Given the description of an element on the screen output the (x, y) to click on. 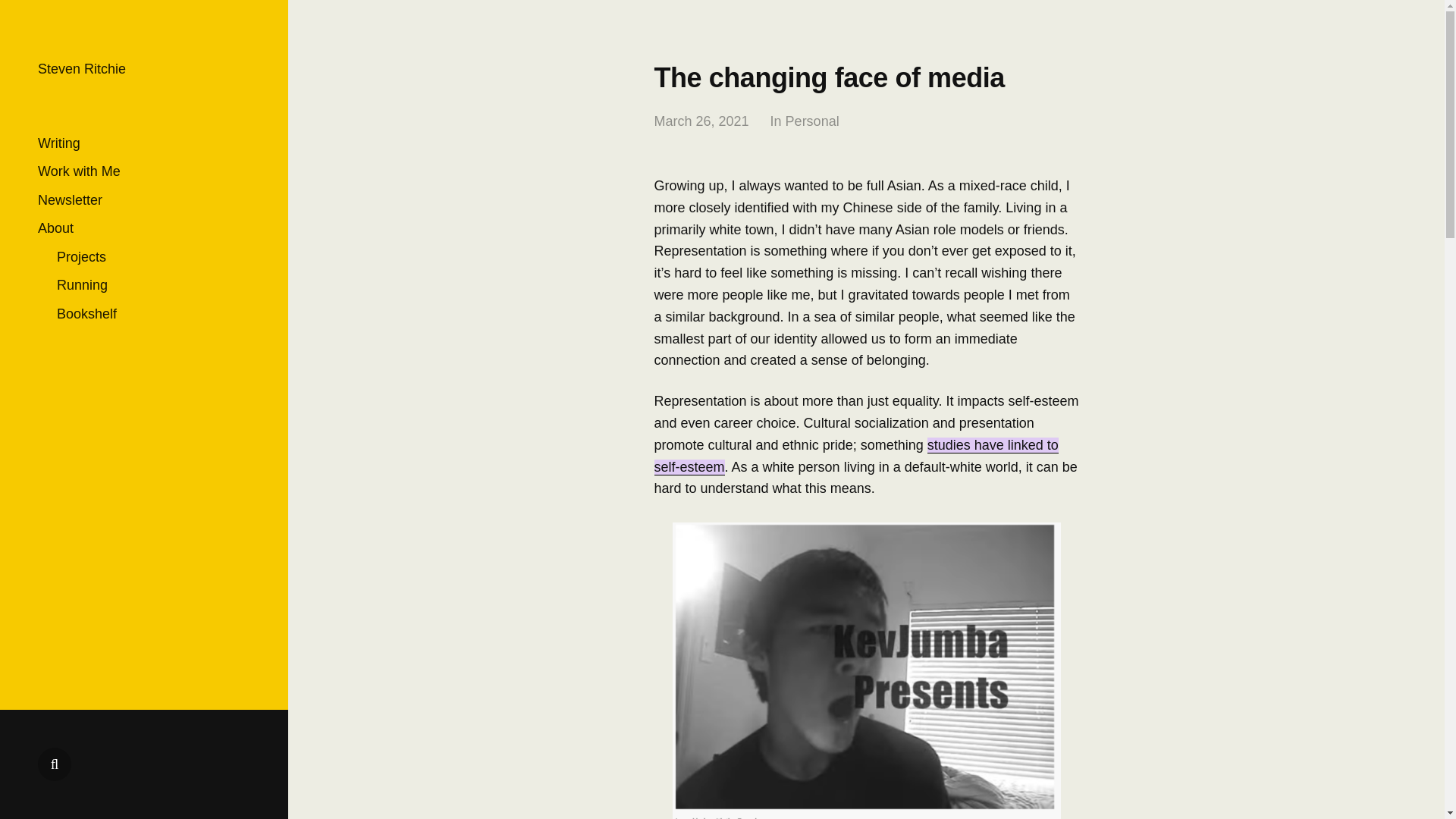
Writing (58, 142)
Bookshelf (86, 314)
Work with Me (78, 171)
March 26, 2021 (700, 121)
Newsletter (69, 200)
studies have linked to self-esteem (855, 456)
About (55, 228)
Steven Ritchie (81, 68)
Running (81, 285)
Projects (81, 256)
